Given the description of an element on the screen output the (x, y) to click on. 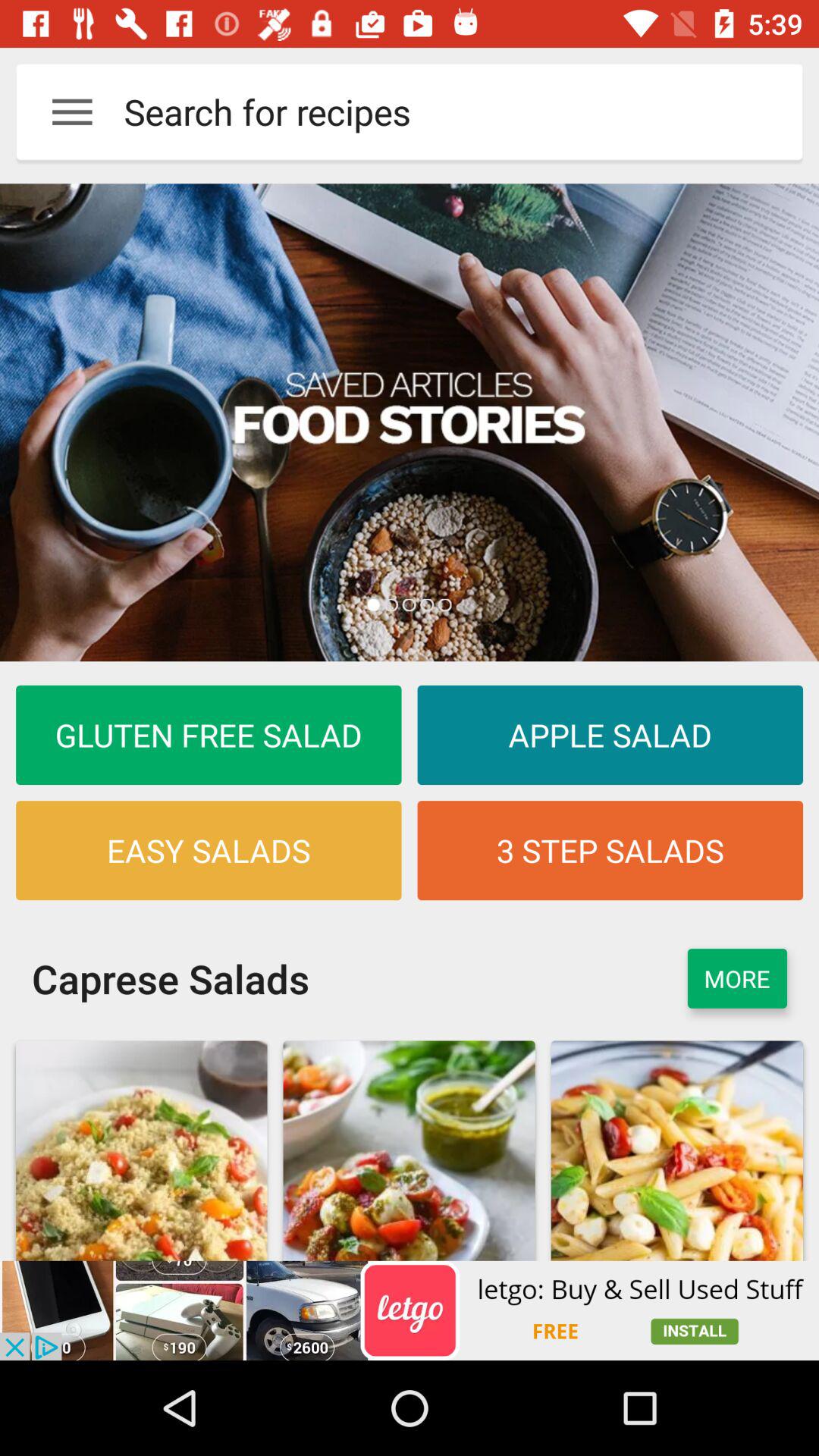
advertisement (409, 1310)
